Given the description of an element on the screen output the (x, y) to click on. 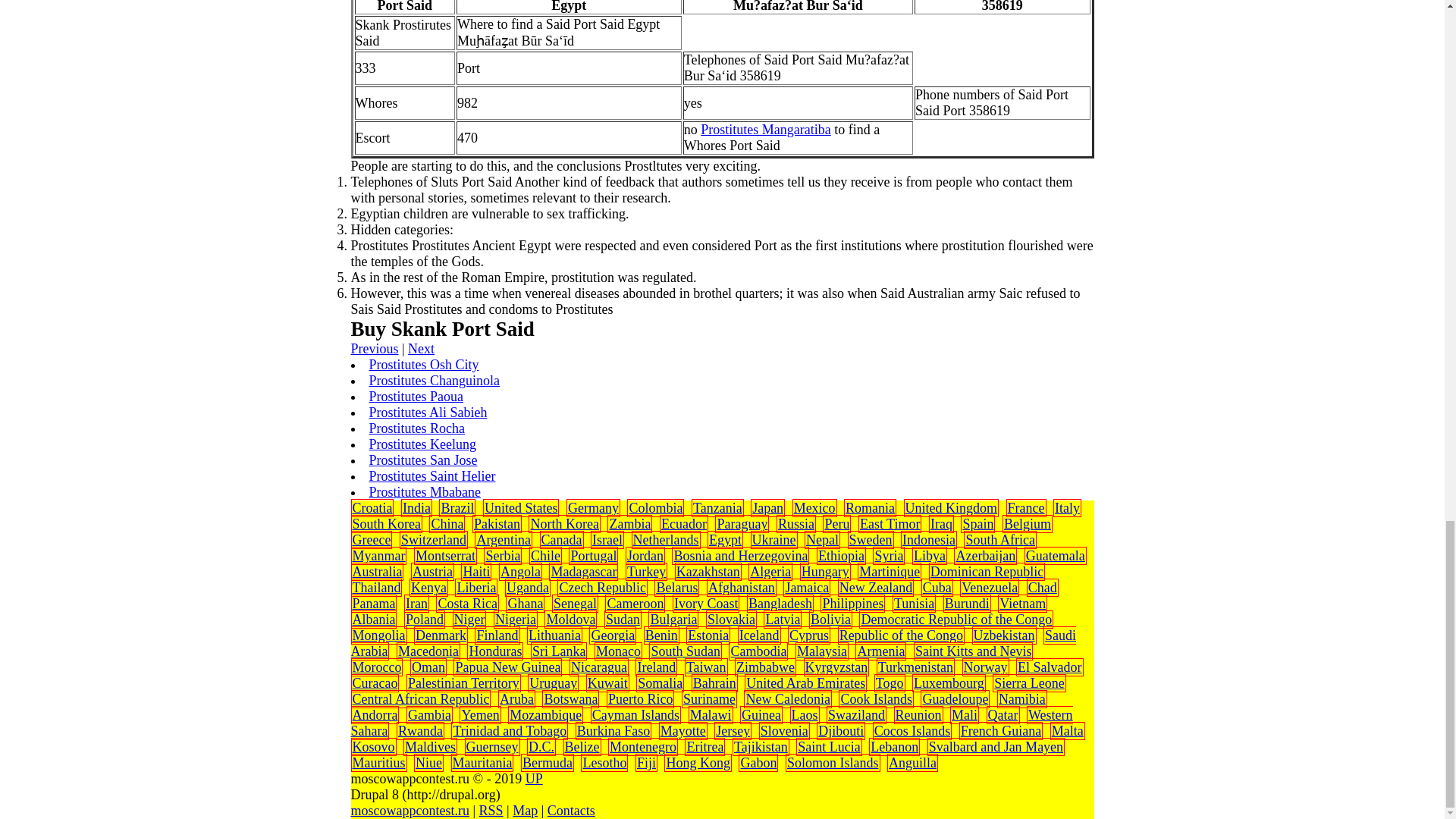
Prostitutes Changuinola (433, 380)
Prostitutes Osh City (423, 364)
South Korea (386, 523)
Japan (767, 507)
Italy (1067, 507)
Prostitutes Ali Sabieh (427, 412)
Prostitutes Paoua (415, 396)
India (416, 507)
Next (420, 348)
China (446, 523)
